Given the description of an element on the screen output the (x, y) to click on. 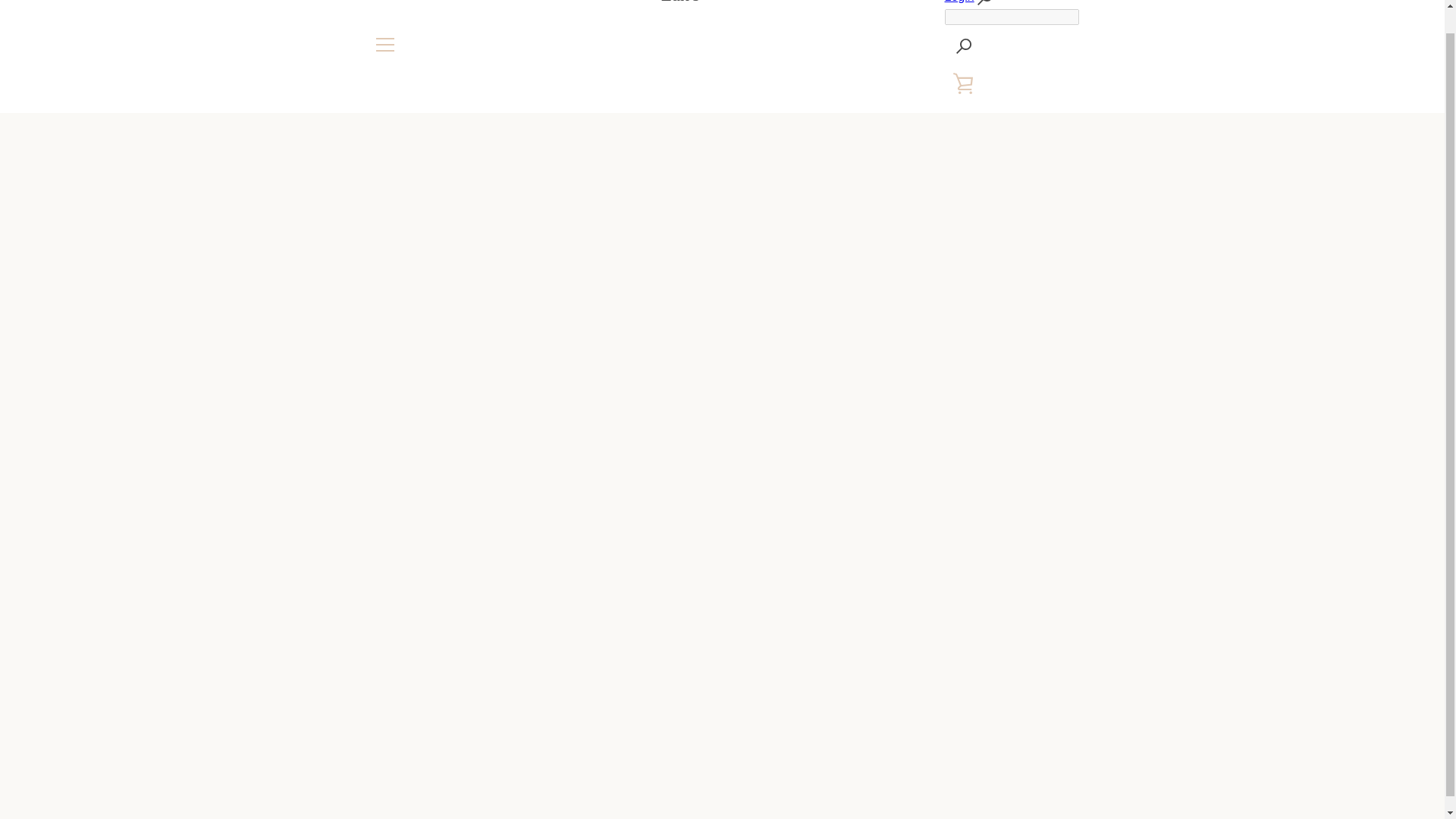
Login (959, 1)
MENU (384, 44)
SEARCH AGAIN (963, 45)
VIEW CART (963, 83)
